Given the description of an element on the screen output the (x, y) to click on. 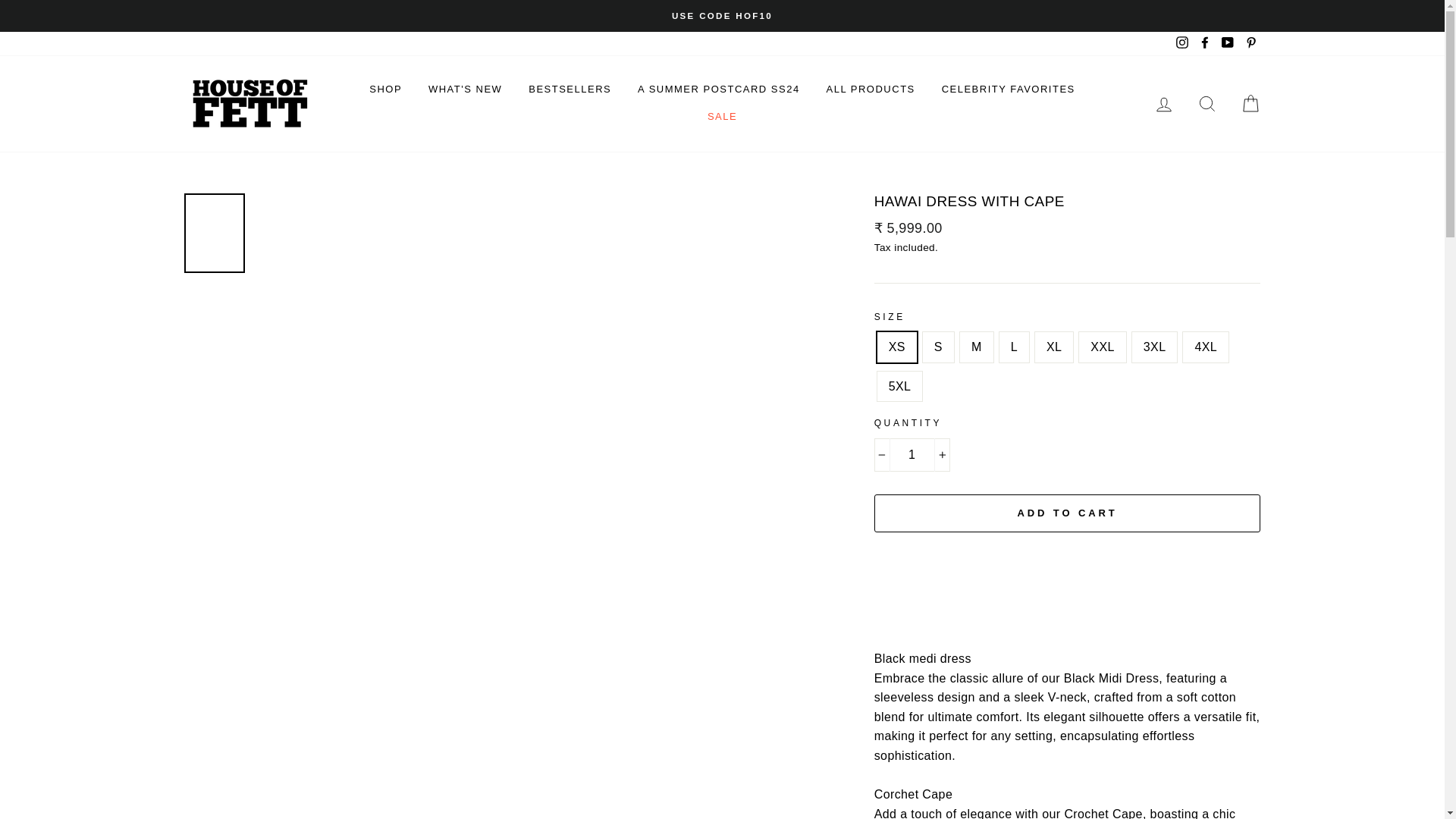
1 (912, 454)
